Given the description of an element on the screen output the (x, y) to click on. 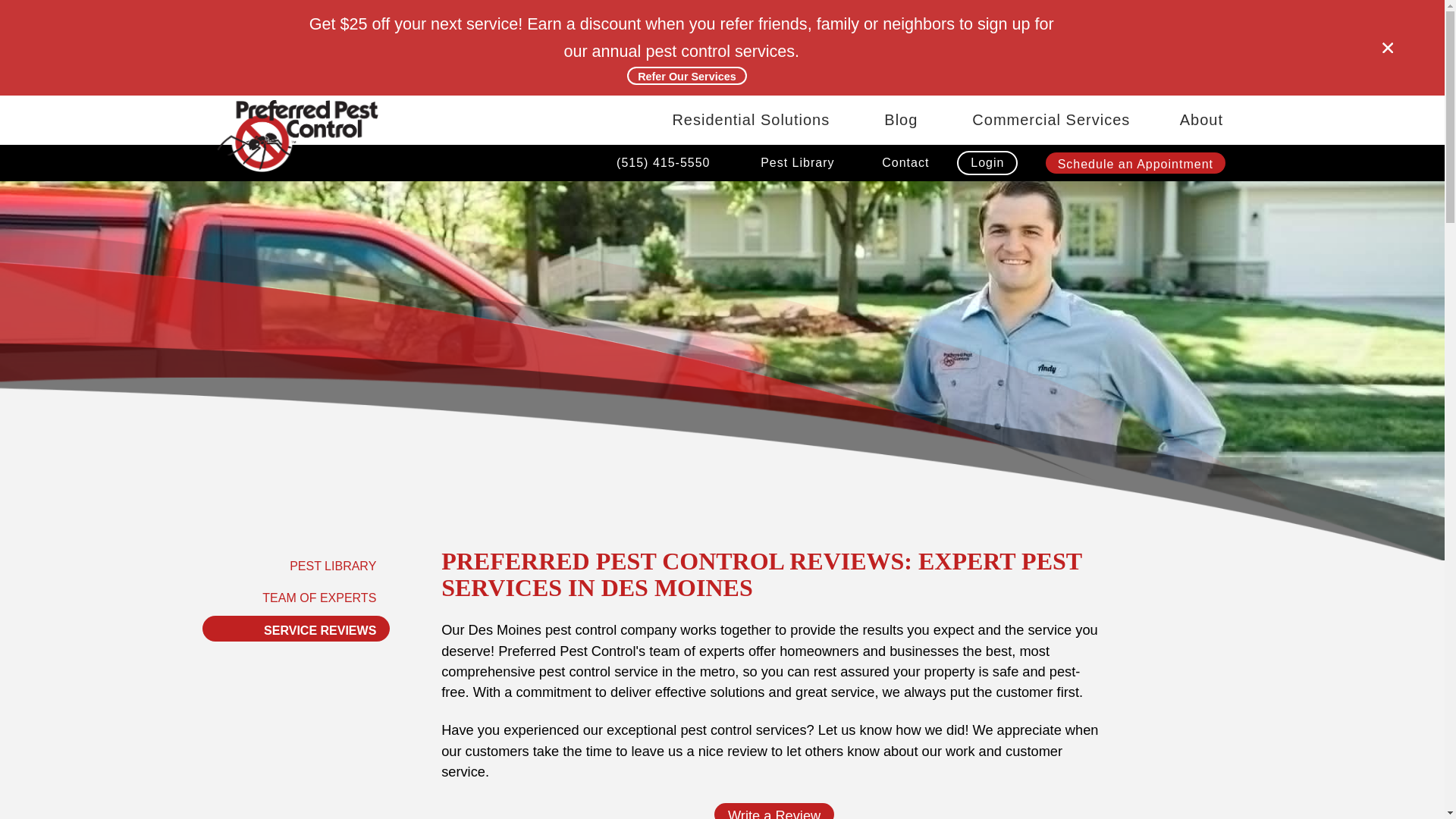
Refer Our Services (686, 75)
Schedule an Appointment (1134, 163)
Contact (905, 162)
Write a Review (774, 811)
About (1200, 119)
Schedule an Appointment (1134, 163)
TEAM OF EXPERTS (296, 596)
Commercial Services (1051, 119)
Residential Solutions (751, 119)
close (1387, 47)
Back (797, 198)
Pest Library (797, 162)
Submit (797, 198)
PEST LIBRARY (296, 564)
Login (986, 162)
